Given the description of an element on the screen output the (x, y) to click on. 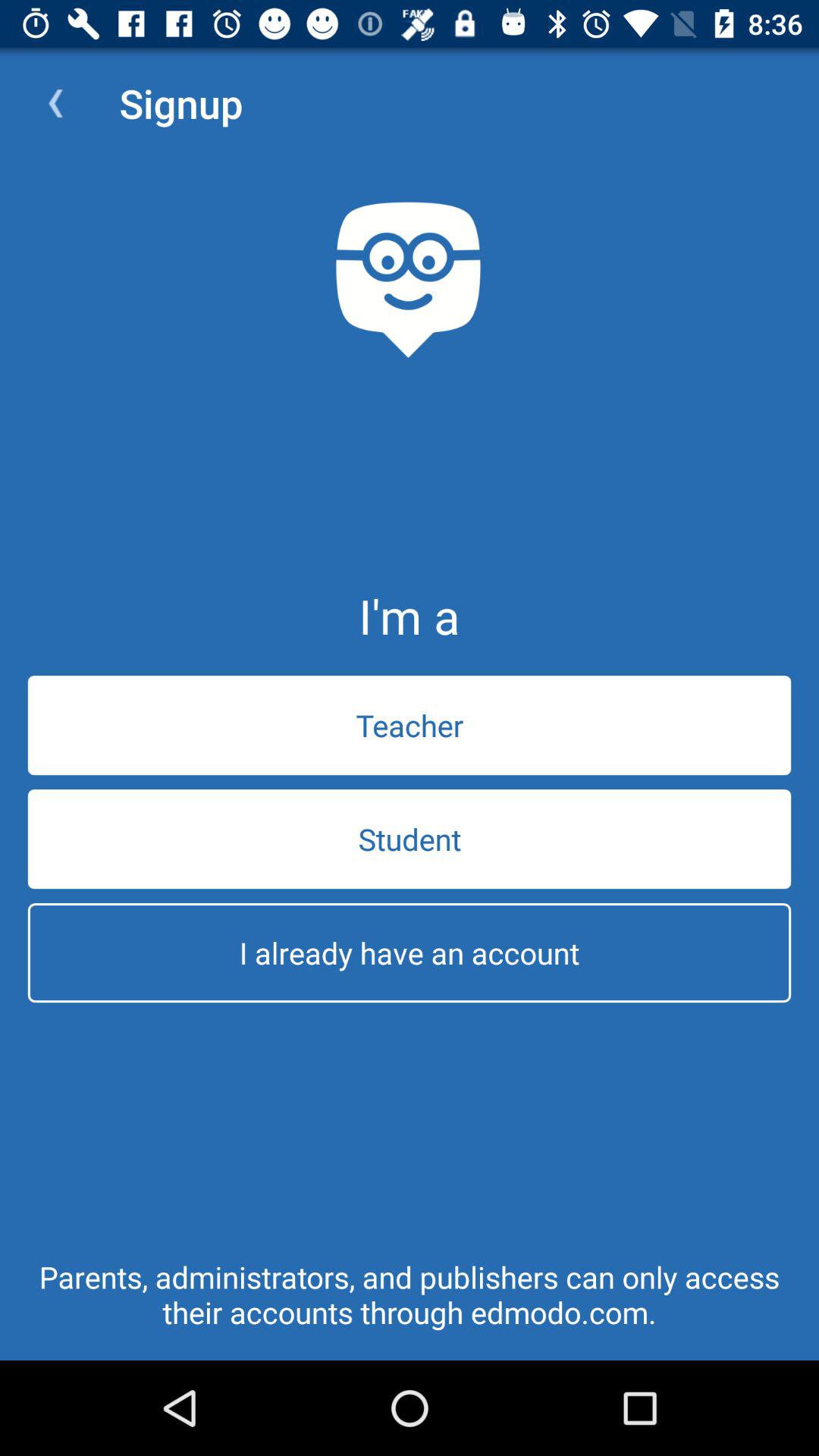
click i already have icon (409, 952)
